Given the description of an element on the screen output the (x, y) to click on. 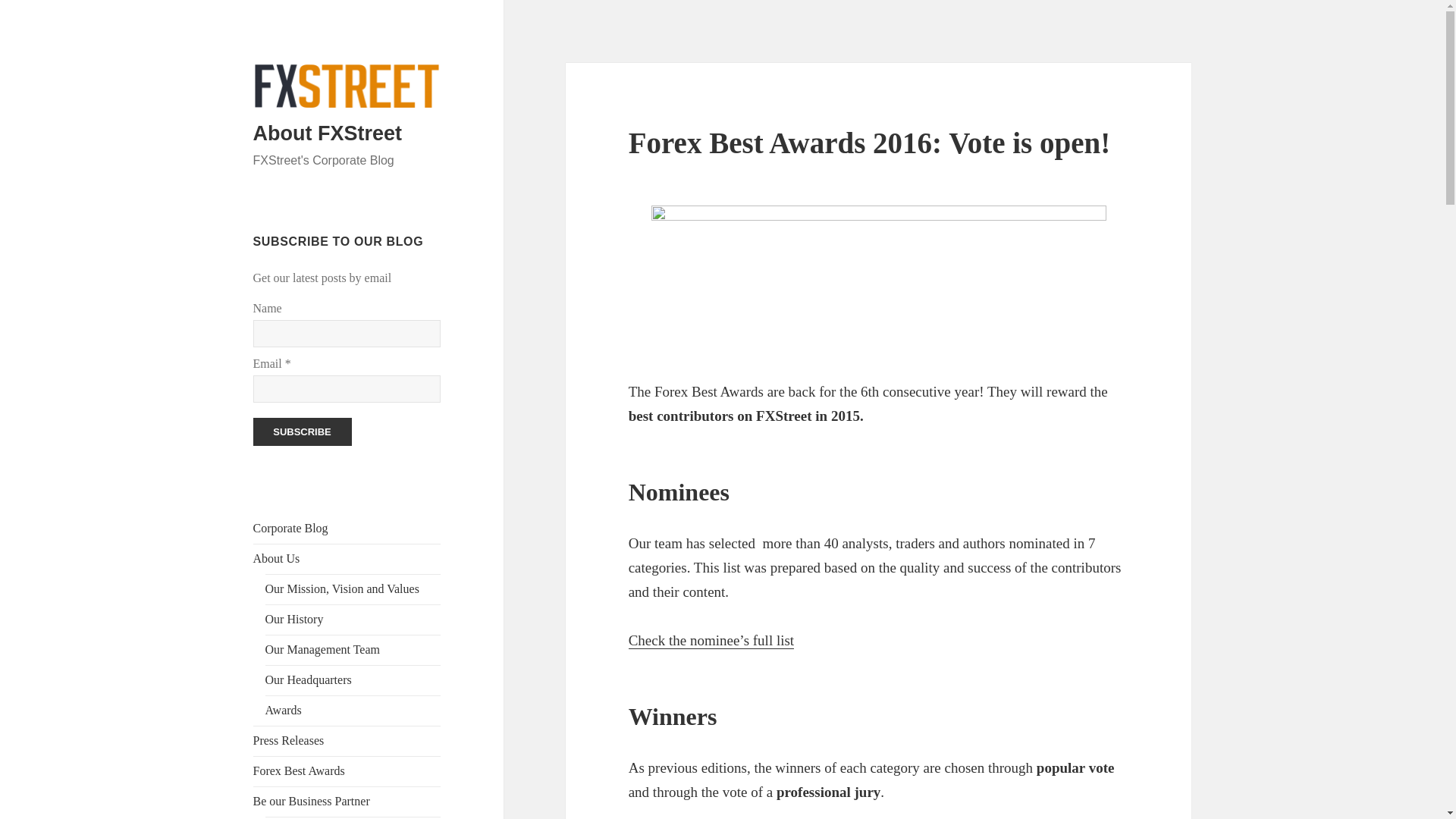
Press Releases (288, 739)
Our Headquarters (308, 679)
Subscribe (302, 431)
Corporate Blog (291, 527)
About Us (276, 558)
Our Management Team (322, 649)
Our History (293, 618)
About FXStreet (328, 133)
Forex Best Awards (299, 770)
Our Mission, Vision and Values (341, 588)
